Given the description of an element on the screen output the (x, y) to click on. 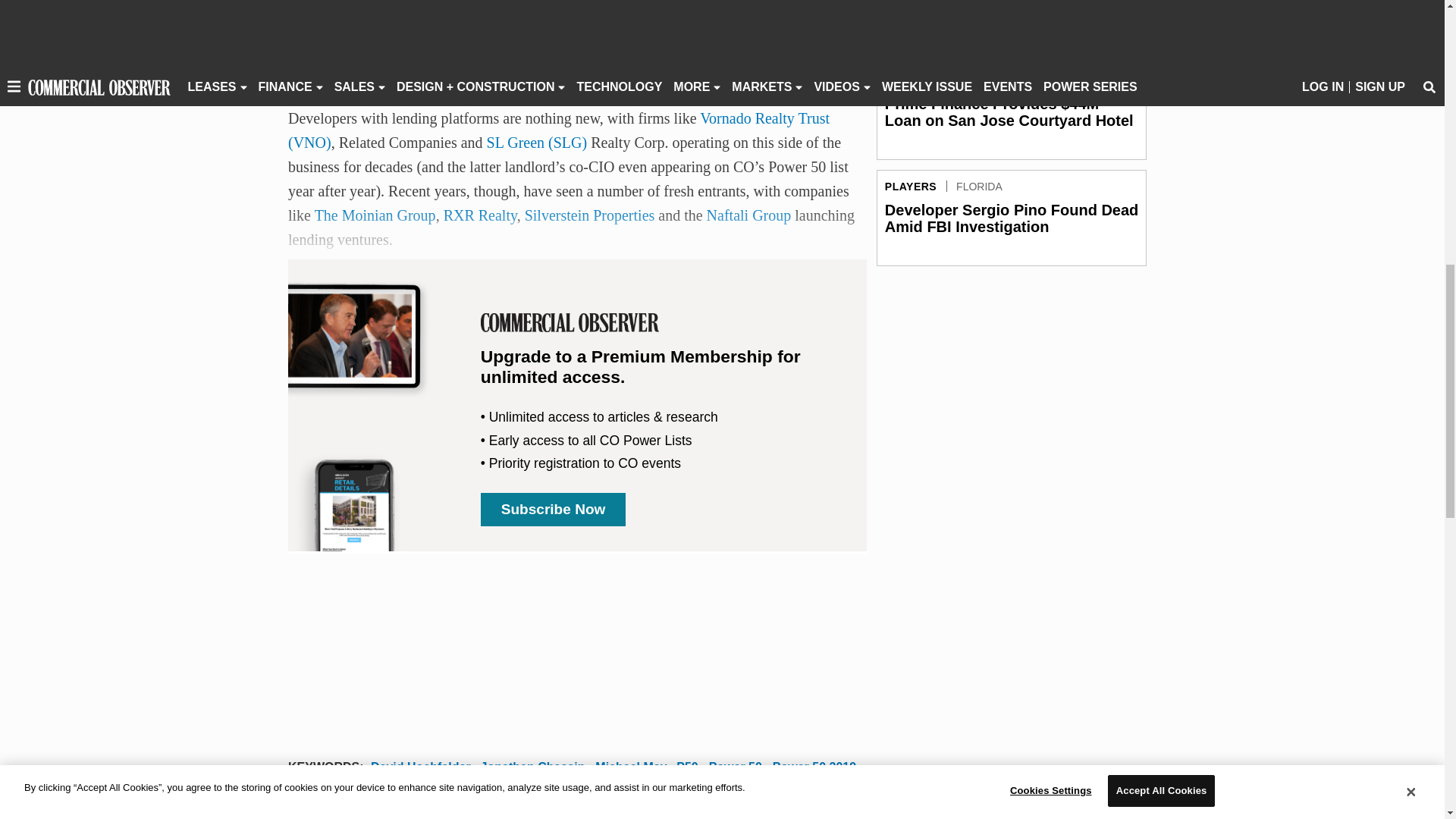
SL Green (537, 142)
Vornado Realty Trust (558, 129)
The Moinian Group (374, 215)
RXR Realty (480, 215)
Silverstein Properties (589, 215)
Naftali Group (749, 215)
